Given the description of an element on the screen output the (x, y) to click on. 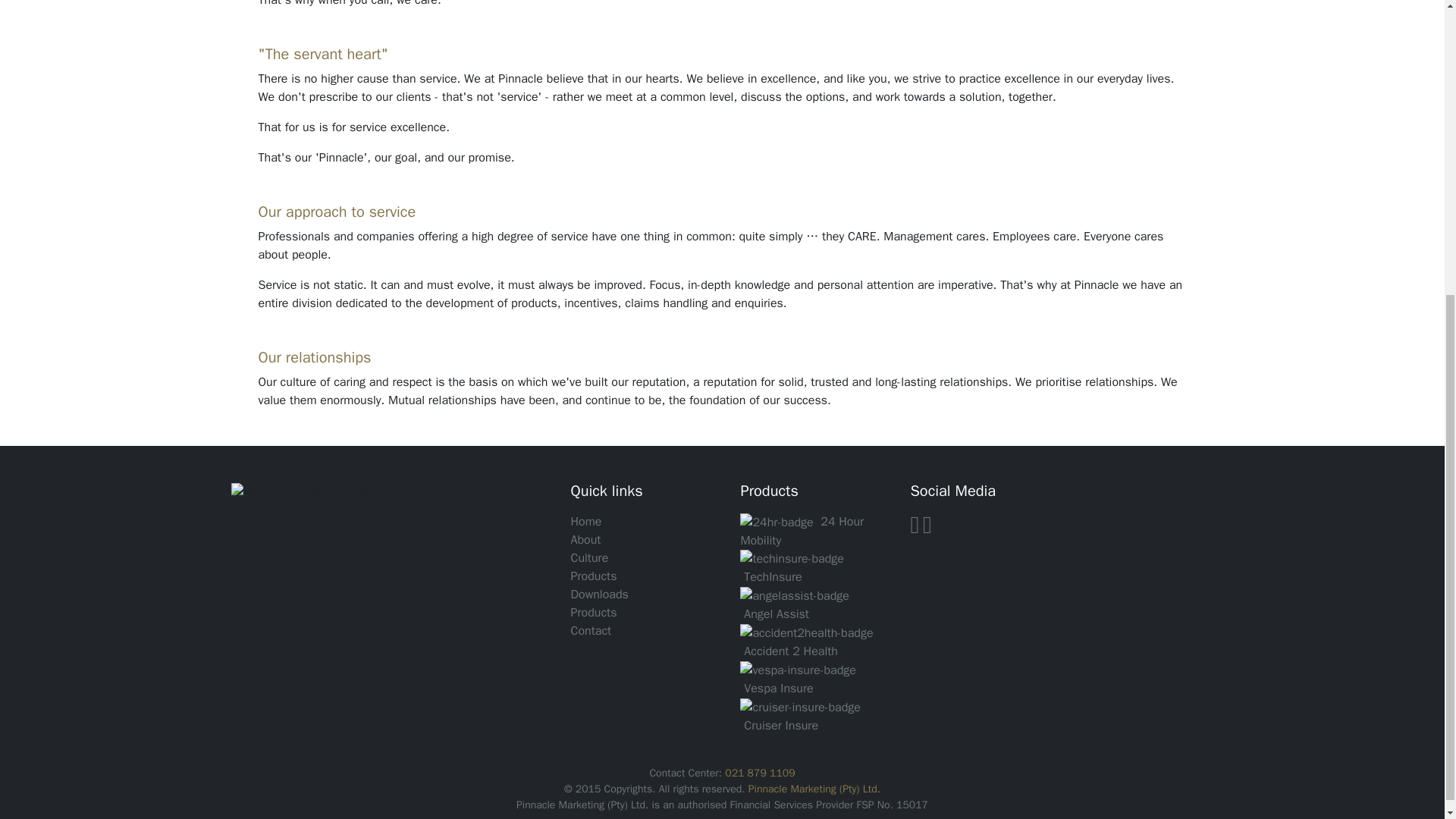
Products (592, 575)
techinsure-badge (791, 558)
Products (592, 612)
Cruiser Insure (781, 725)
accident2health-badge (805, 633)
24hr-badge (775, 522)
Pinnacle Marketin Logo (301, 492)
Home (585, 521)
cruiser-badge (799, 707)
Vespa Insure (778, 688)
Angel Assist (776, 613)
Link to Pinnacle Marketing's linkedin profile (927, 529)
Link to 24 hour mobility's facebook page (914, 529)
TechInsure (773, 576)
About (584, 539)
